Given the description of an element on the screen output the (x, y) to click on. 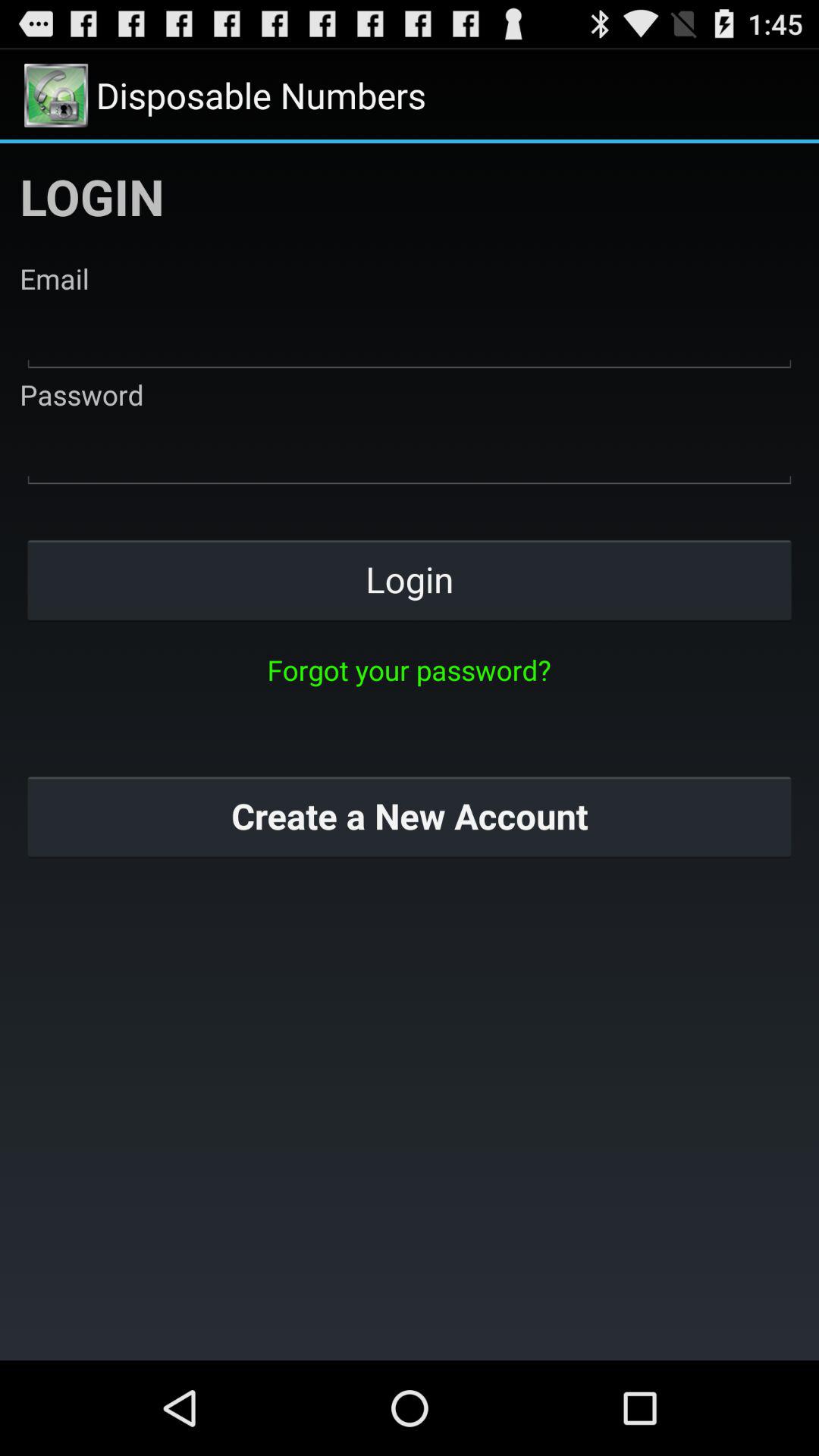
scroll until forgot your password? icon (409, 669)
